Given the description of an element on the screen output the (x, y) to click on. 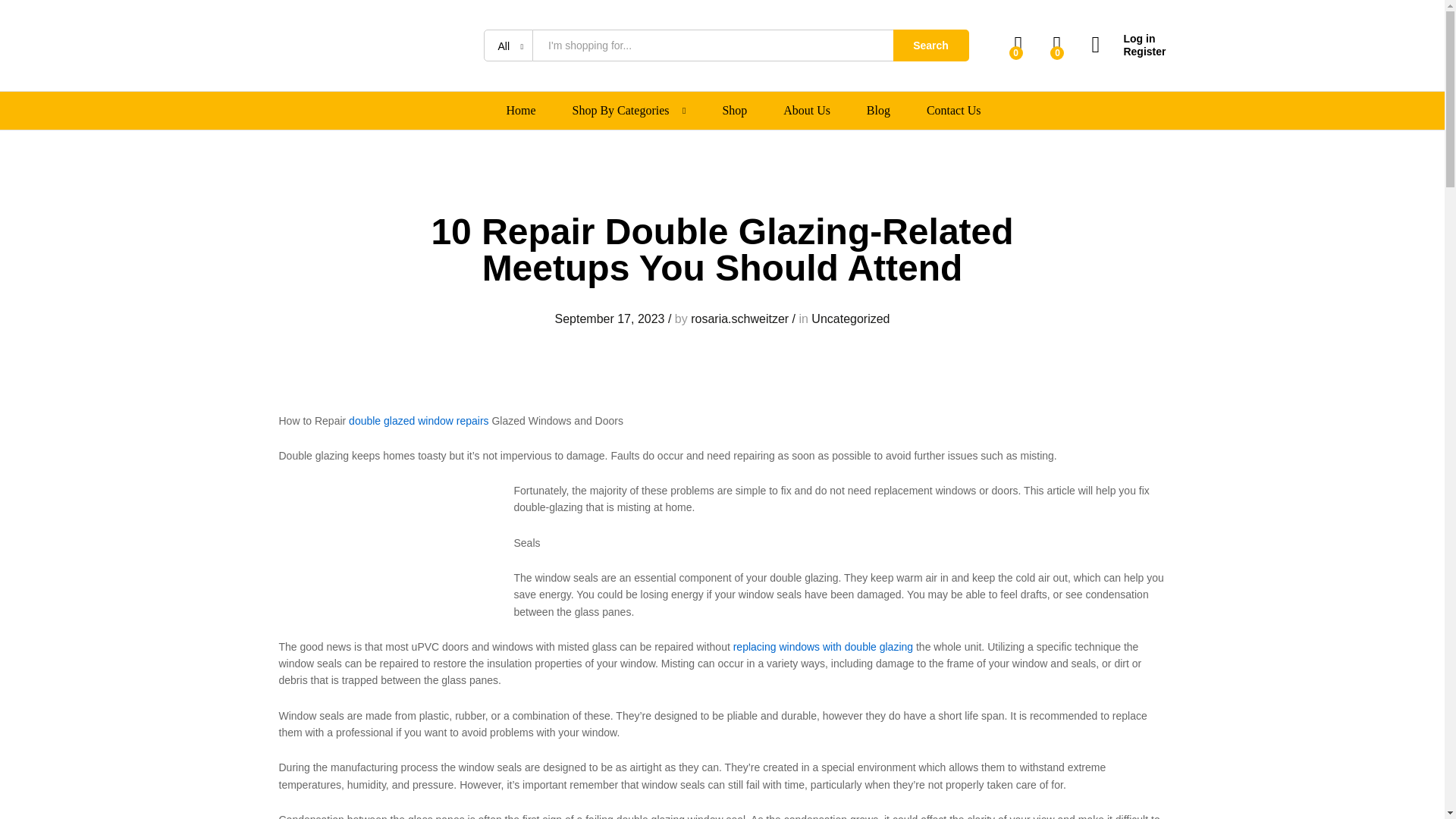
Uncategorized (849, 318)
replacing windows with double glazing (822, 646)
Search (931, 45)
Blog (877, 110)
Register (1128, 51)
Shop By Categories (620, 110)
About Us (806, 110)
Shop (734, 110)
Log in (1128, 38)
rosaria.schweitzer (739, 318)
Home (520, 110)
September 17, 2023 (608, 318)
Contact Us (953, 110)
double glazed window repairs (418, 420)
